Given the description of an element on the screen output the (x, y) to click on. 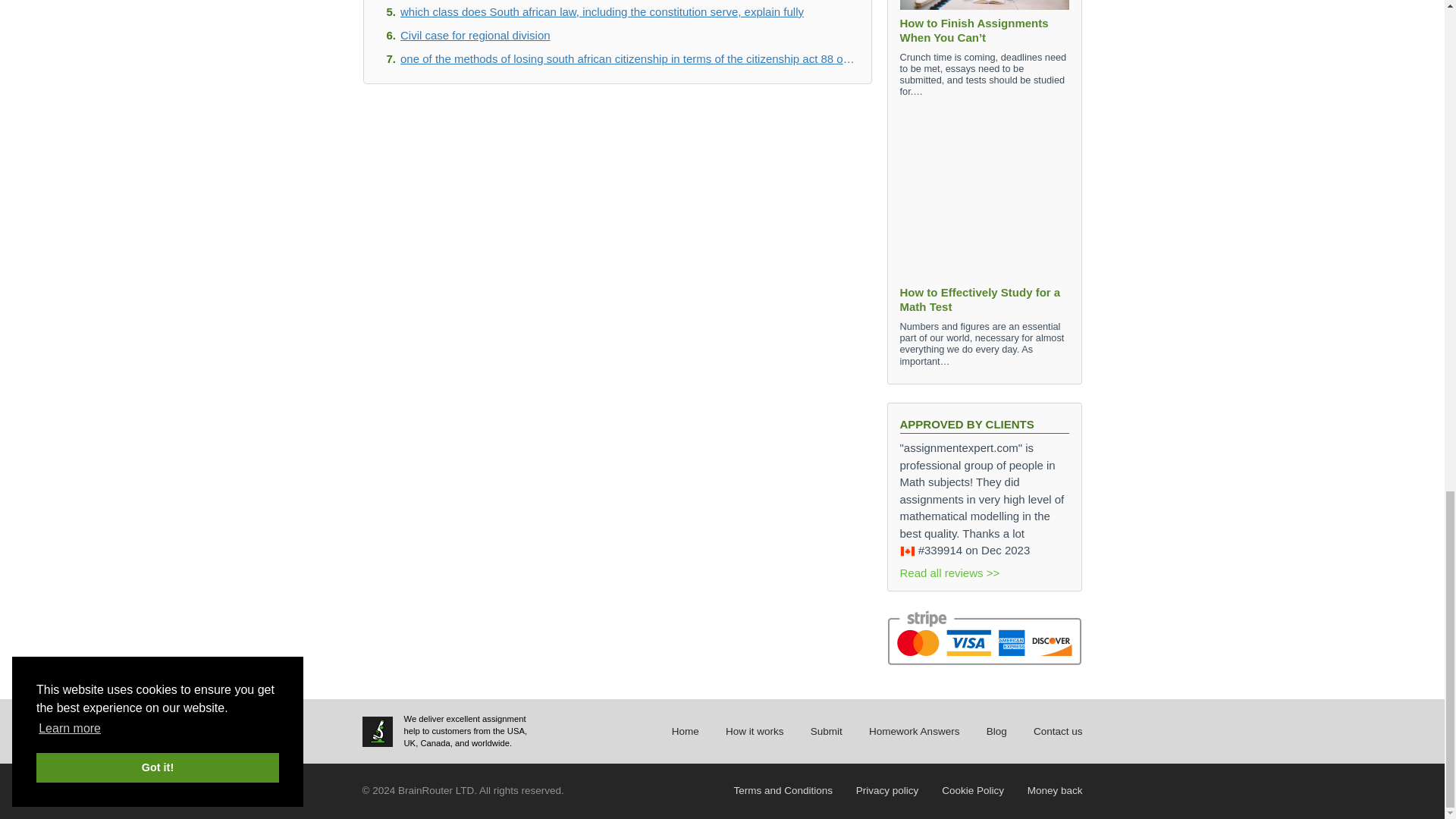
Canada (906, 549)
Money Back Guarantee (1055, 790)
Civil case for regional division (628, 35)
